Given the description of an element on the screen output the (x, y) to click on. 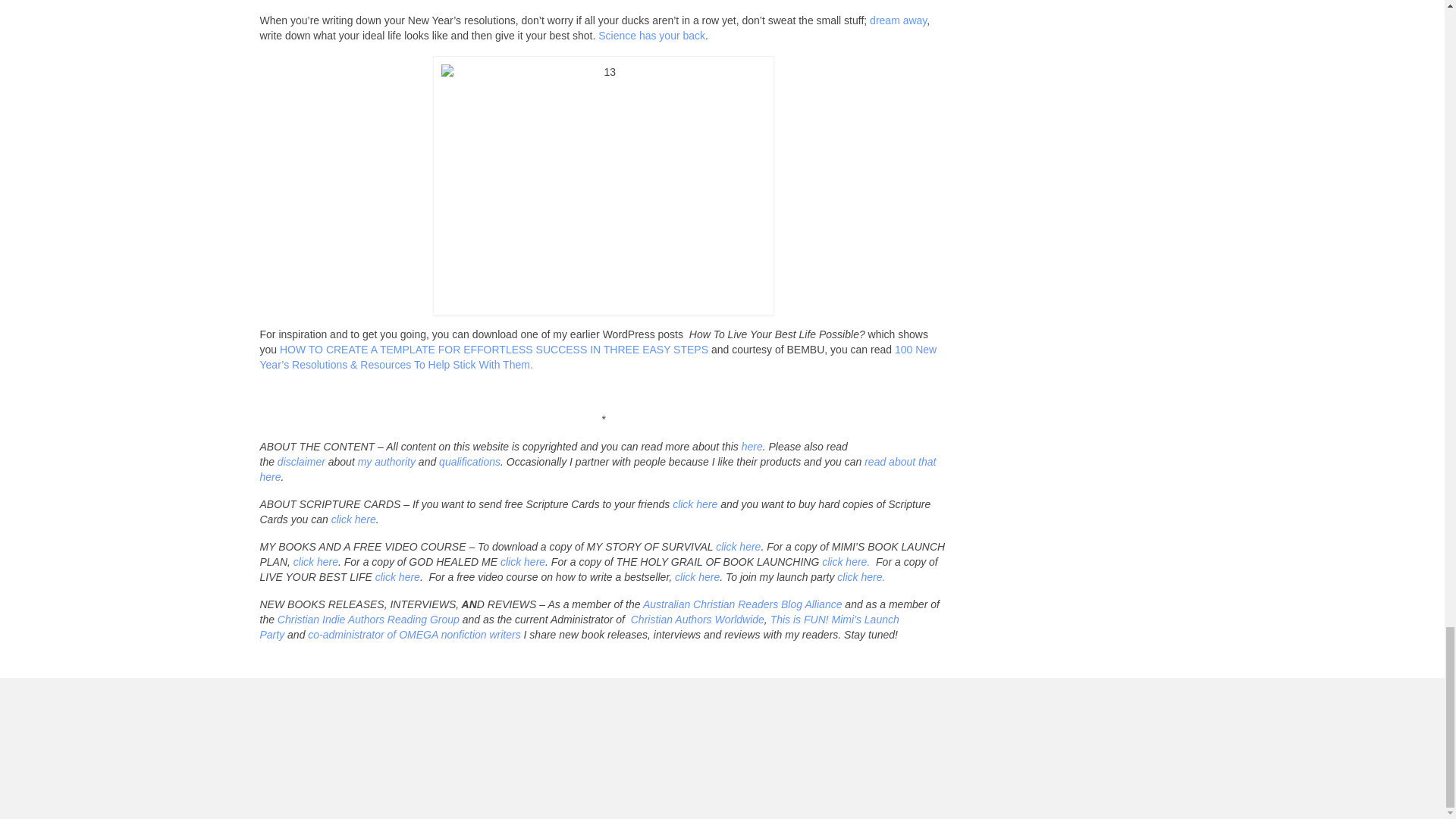
TEMPLATE FOR EFFORTLESS SUCCESS 291017 (493, 349)
